Given the description of an element on the screen output the (x, y) to click on. 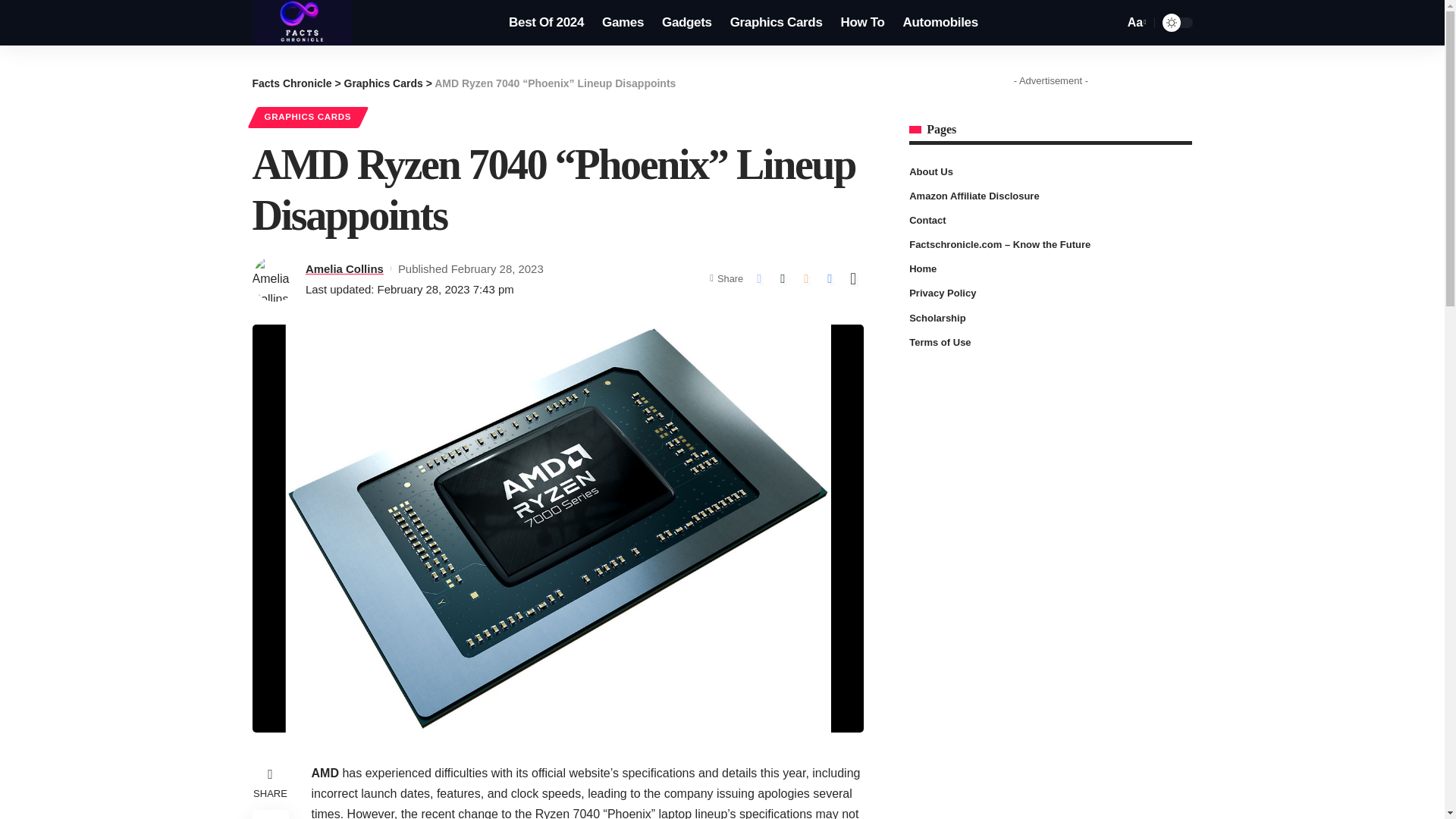
Go to Facts Chronicle. (291, 82)
Graphics Cards (383, 82)
How To (862, 22)
Gadgets (686, 22)
Go to the Graphics Cards Category archives. (383, 82)
Graphics Cards (775, 22)
Automobiles (940, 22)
GRAPHICS CARDS (306, 117)
Games (622, 22)
Facts Chronicle (291, 82)
